Given the description of an element on the screen output the (x, y) to click on. 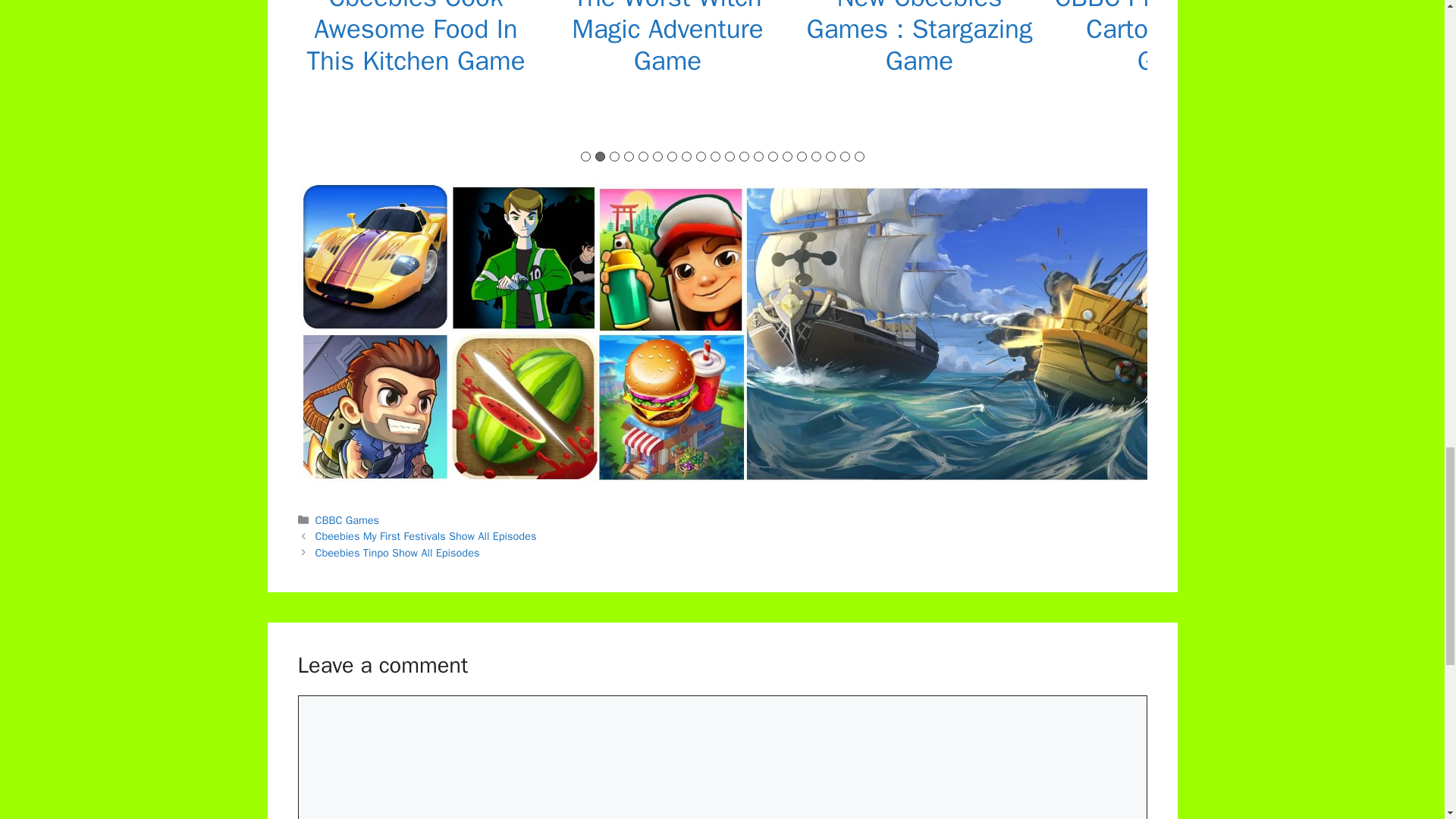
Cbeebies Cook Awesome Food In This Kitchen Game (414, 38)
The Worst Witch Magic Adventure Game (667, 38)
New Cbeebies Games : Stargazing Game (919, 38)
CBBC Printing Press Cartoon Works Game (1171, 38)
